Given the description of an element on the screen output the (x, y) to click on. 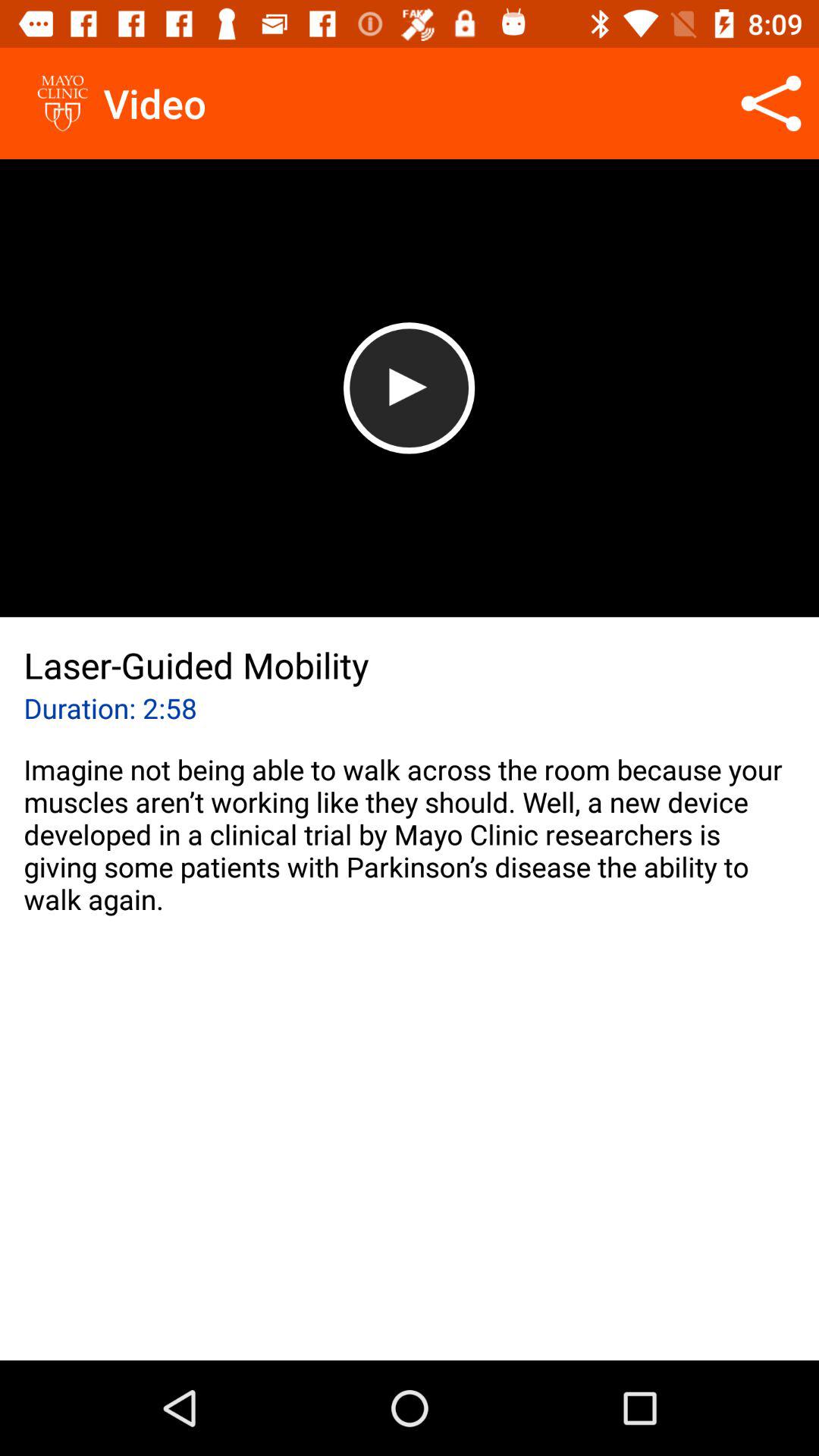
launch icon above the laser-guided mobility icon (408, 387)
